Given the description of an element on the screen output the (x, y) to click on. 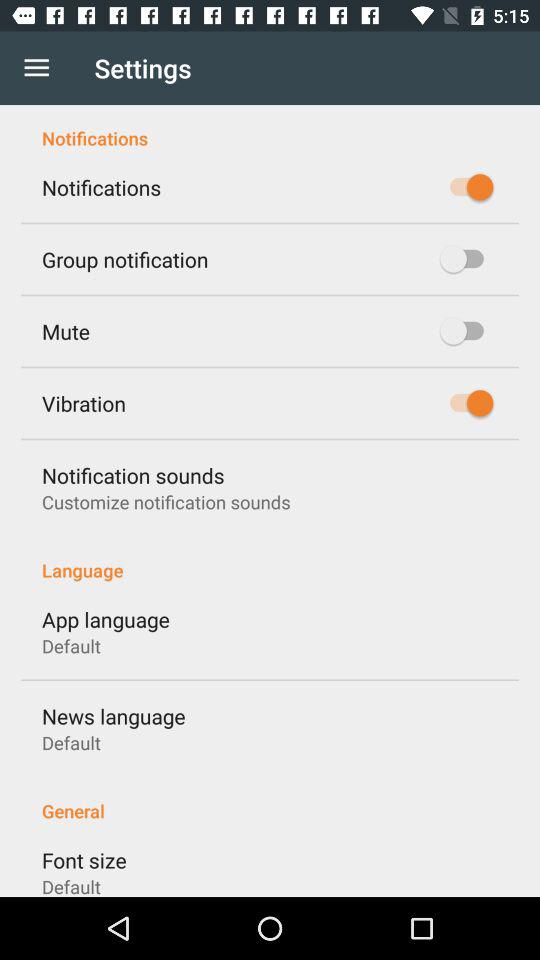
choose icon below the notifications icon (125, 259)
